Given the description of an element on the screen output the (x, y) to click on. 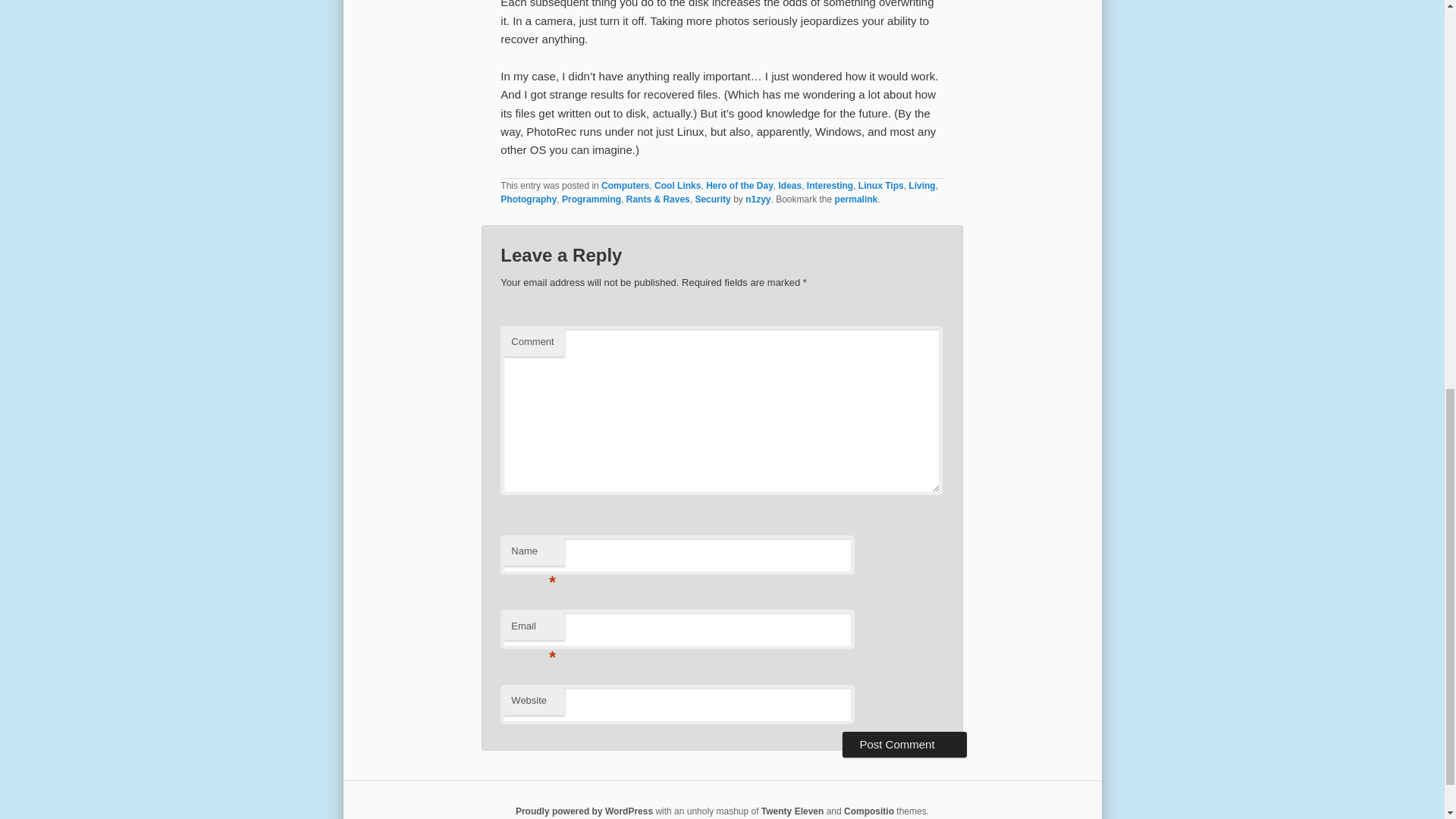
Post Comment (904, 744)
Interesting (829, 185)
Programming (591, 199)
Ideas (789, 185)
Linux Tips (881, 185)
Photography (528, 199)
Twenty Eleven (792, 810)
Post Comment (904, 744)
Semantic Personal Publishing Platform (583, 810)
Proudly powered by WordPress (583, 810)
Computers (625, 185)
Living (921, 185)
n1zyy (757, 199)
Permalink to Digital Photo Recovery (855, 199)
Compositio (868, 810)
